Given the description of an element on the screen output the (x, y) to click on. 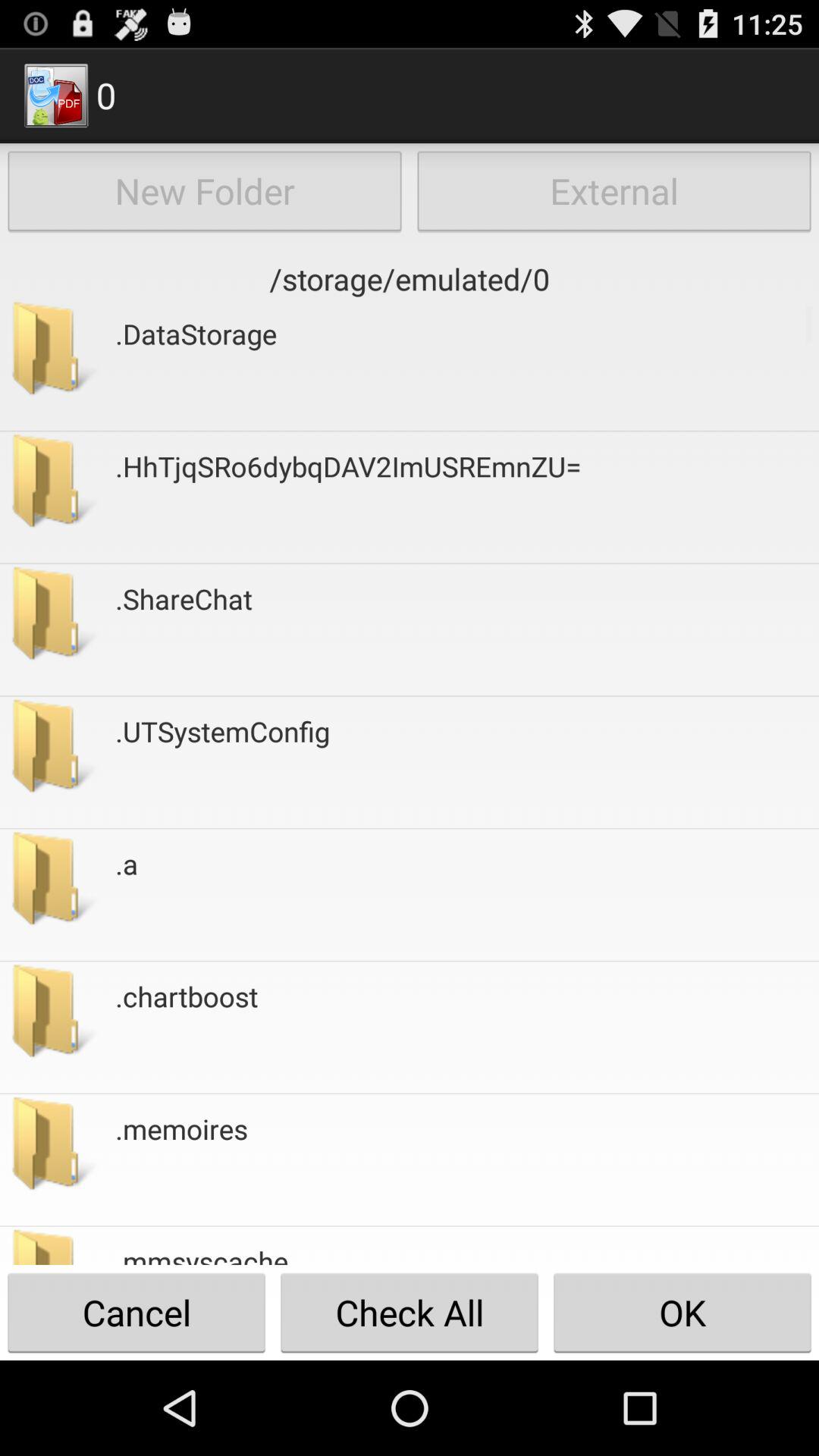
turn off cancel icon (136, 1312)
